Given the description of an element on the screen output the (x, y) to click on. 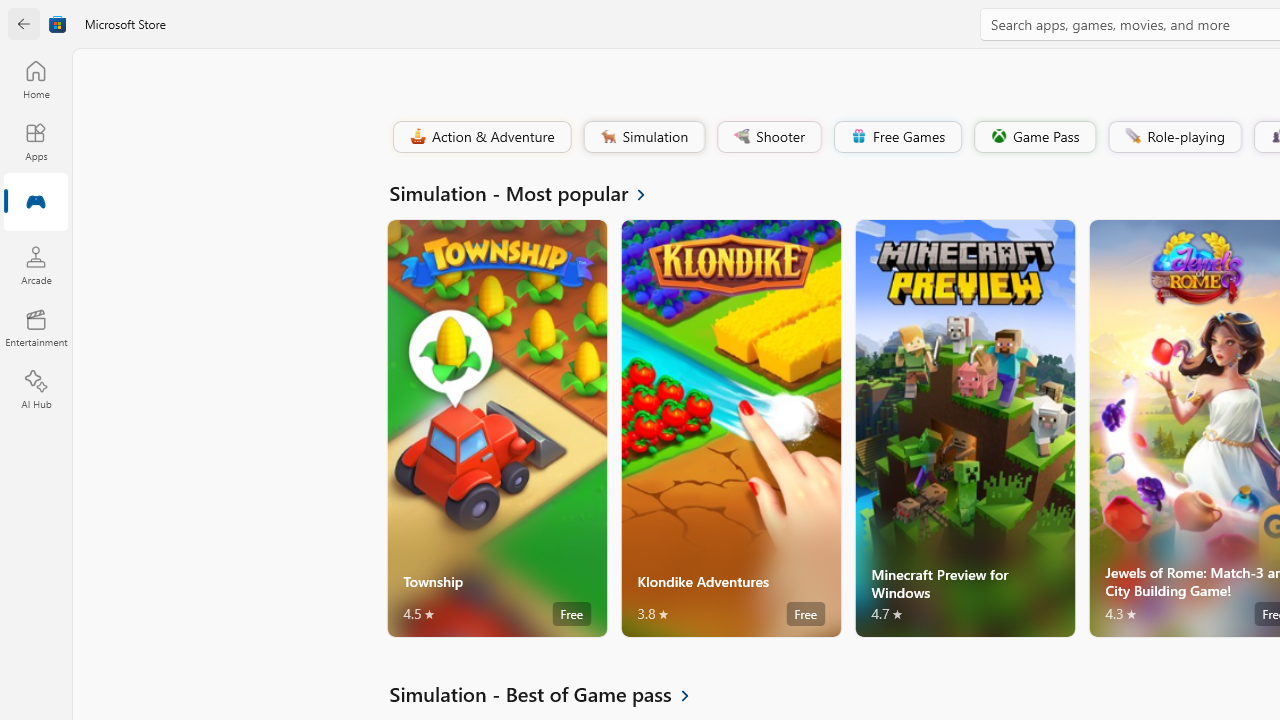
Shooter (767, 136)
Free Games (897, 136)
Gaming (35, 203)
Home (35, 79)
See all  Simulation - Most popular (528, 192)
AI Hub (35, 390)
Township. Average rating of 4.5 out of five stars. Free   (497, 427)
Back (24, 24)
Simulation (643, 136)
Game Pass (1033, 136)
Role-playing (1174, 136)
